Given the description of an element on the screen output the (x, y) to click on. 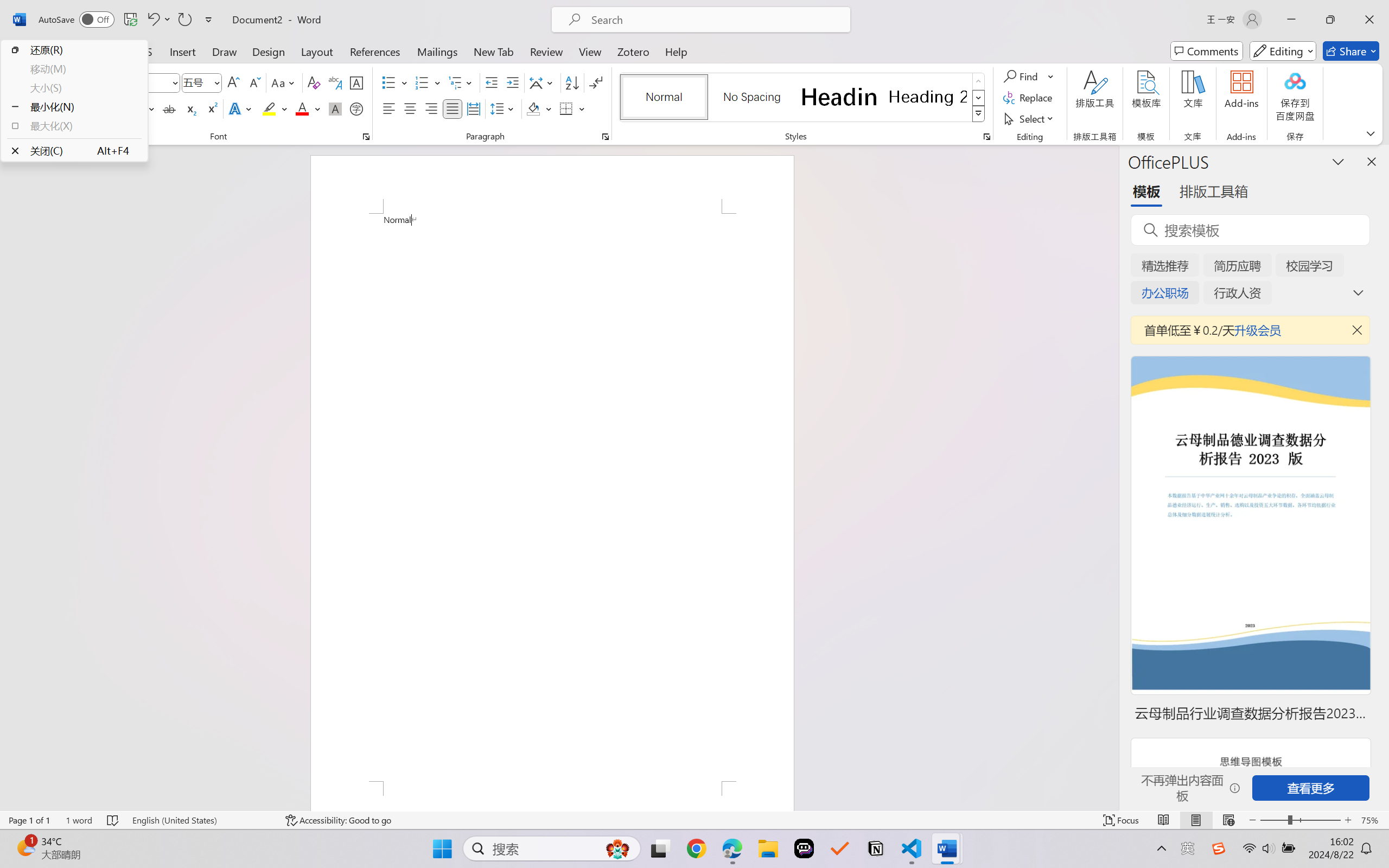
Strikethrough (169, 108)
Underline (135, 108)
References (375, 51)
Minimize (1291, 19)
Layout (316, 51)
Page 1 content (551, 497)
Select (1030, 118)
Shrink Font (253, 82)
Bold (94, 108)
Paragraph... (605, 136)
Bullets (395, 82)
Class: NetUIScrollBar (1111, 477)
